Given the description of an element on the screen output the (x, y) to click on. 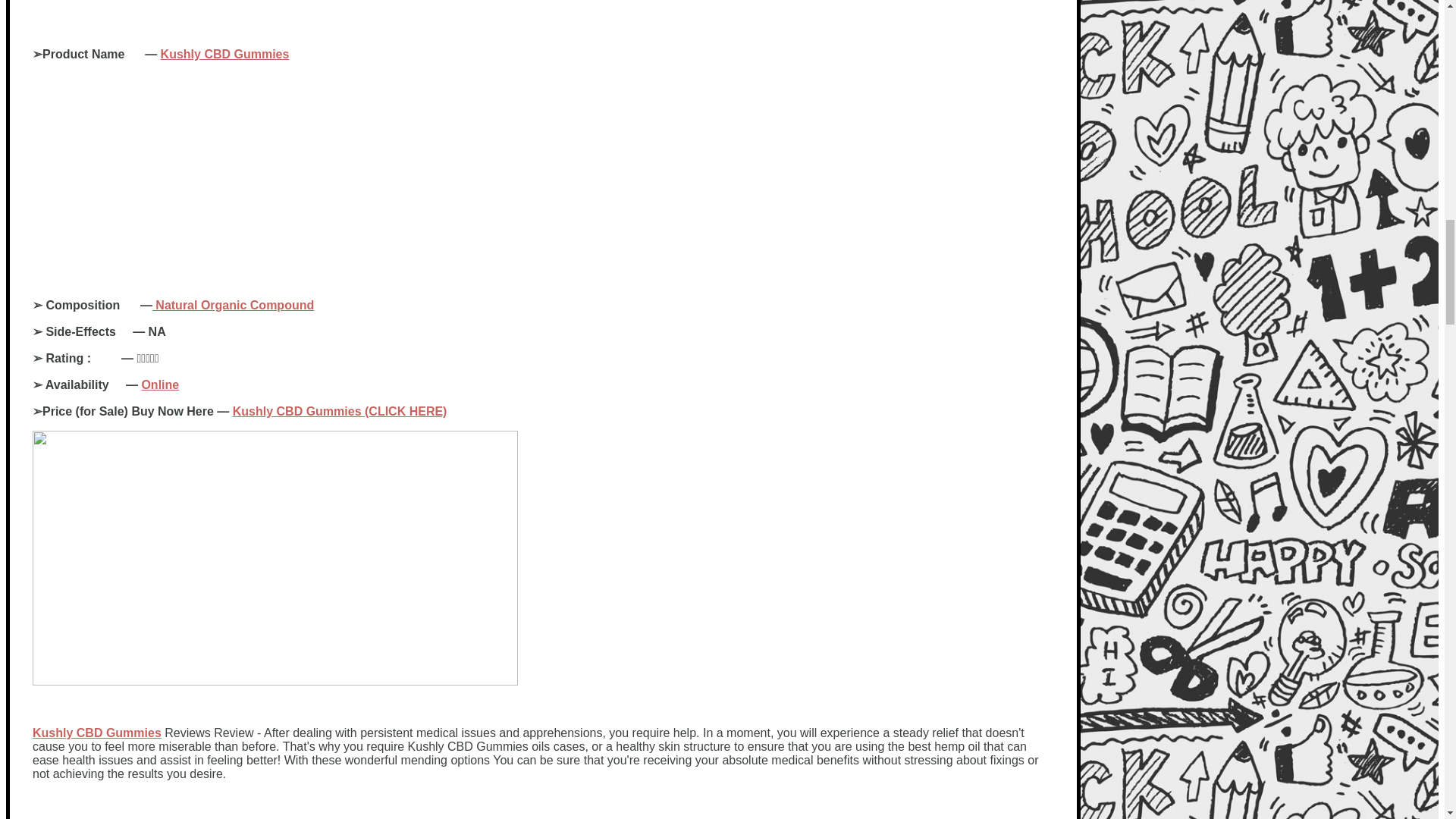
Advertisement (542, 806)
